Given the description of an element on the screen output the (x, y) to click on. 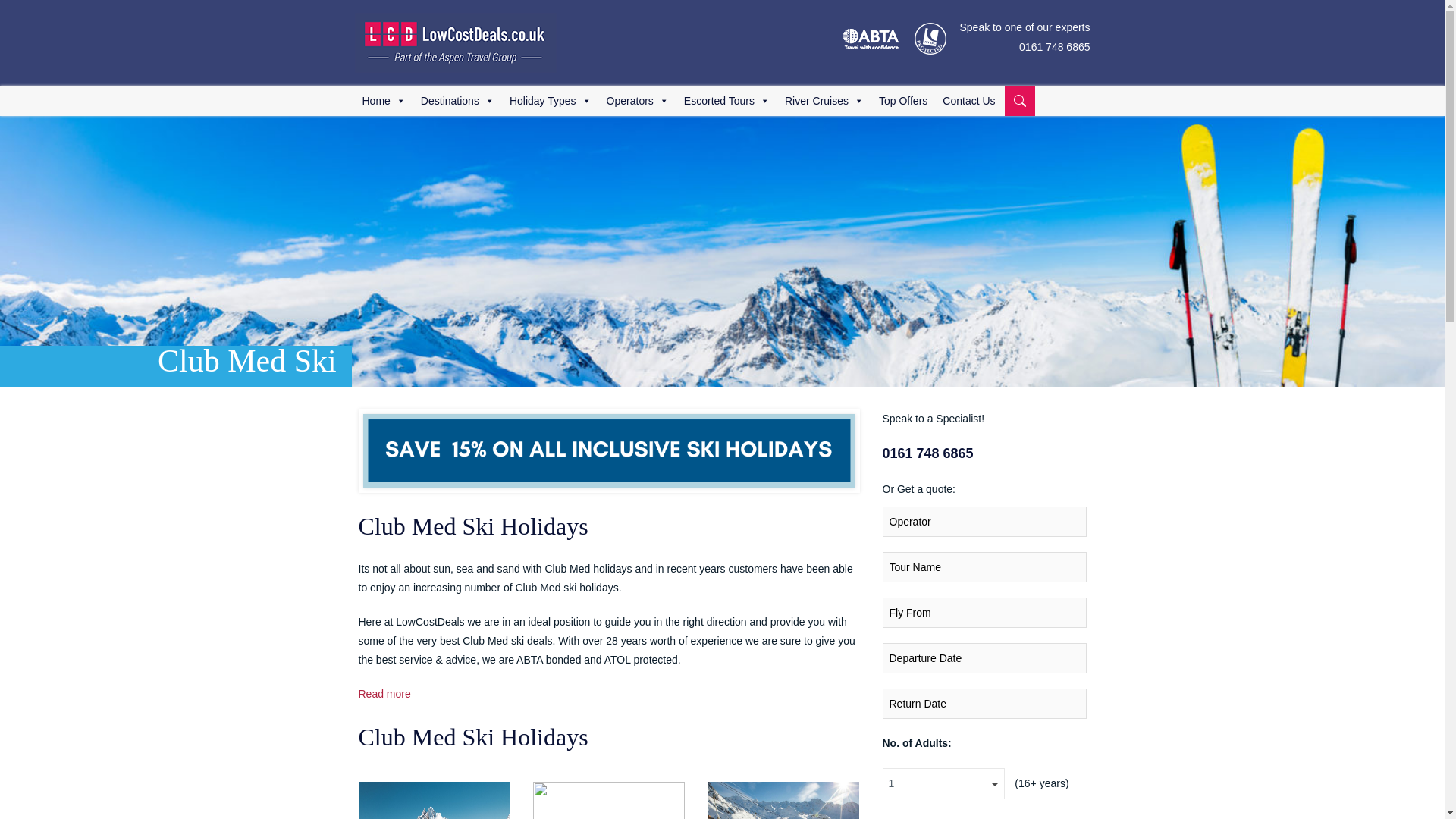
Club Med Tignes Val Claret, France (433, 800)
Club Med Val Thorens Sensations, France (783, 800)
Club Med Peisey Vallandry, France (608, 800)
